Given the description of an element on the screen output the (x, y) to click on. 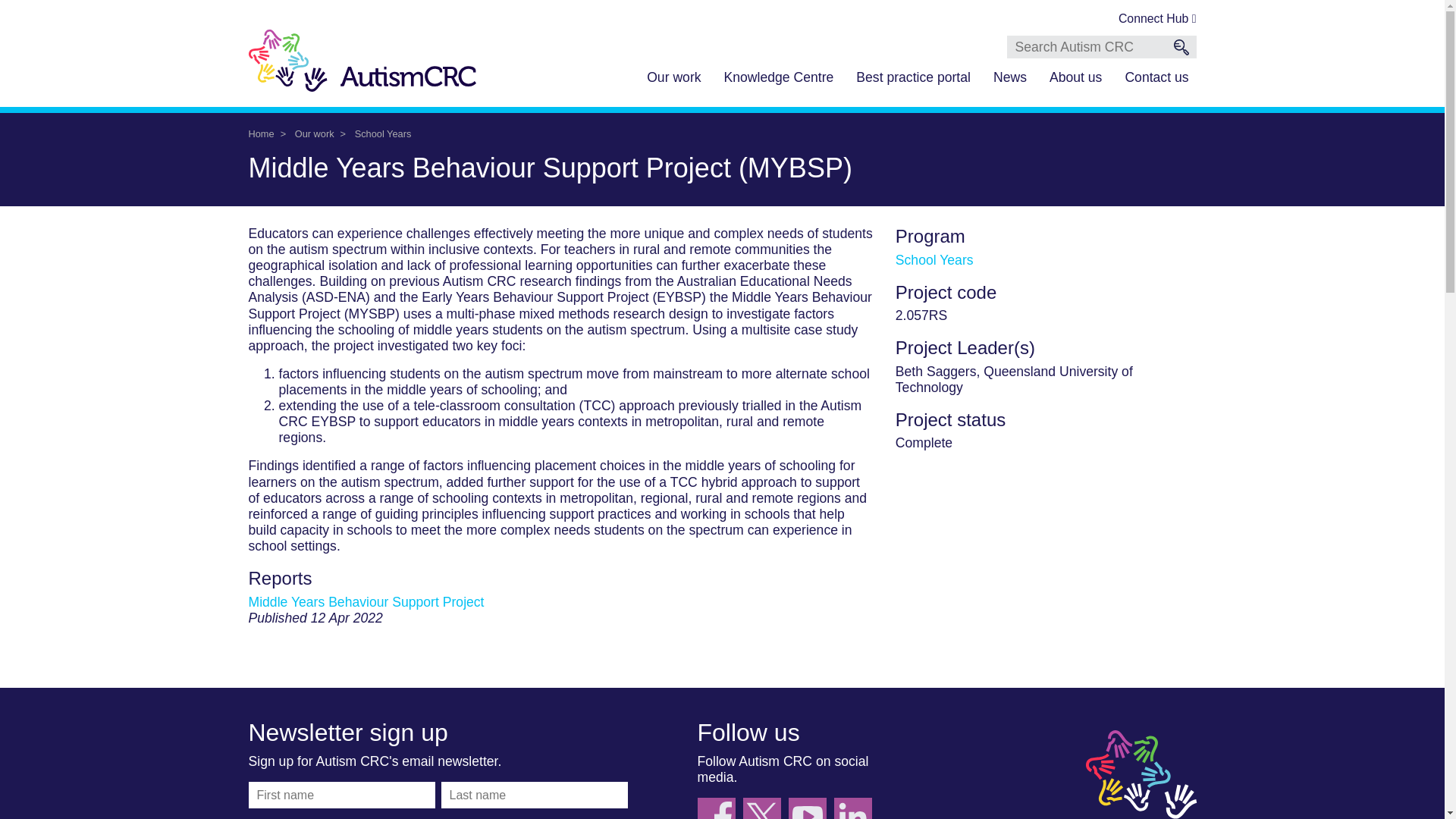
Our work (673, 78)
Search (1181, 47)
School Years (383, 133)
News (1009, 78)
Search (1181, 47)
Home (261, 133)
Knowledge Centre (778, 78)
Connect Hub (1157, 20)
Contact us (1155, 78)
Autism CRC (1142, 774)
About us (1075, 78)
Our work (315, 133)
School Years (934, 259)
Middle Years Behaviour Support Project (366, 601)
